Given the description of an element on the screen output the (x, y) to click on. 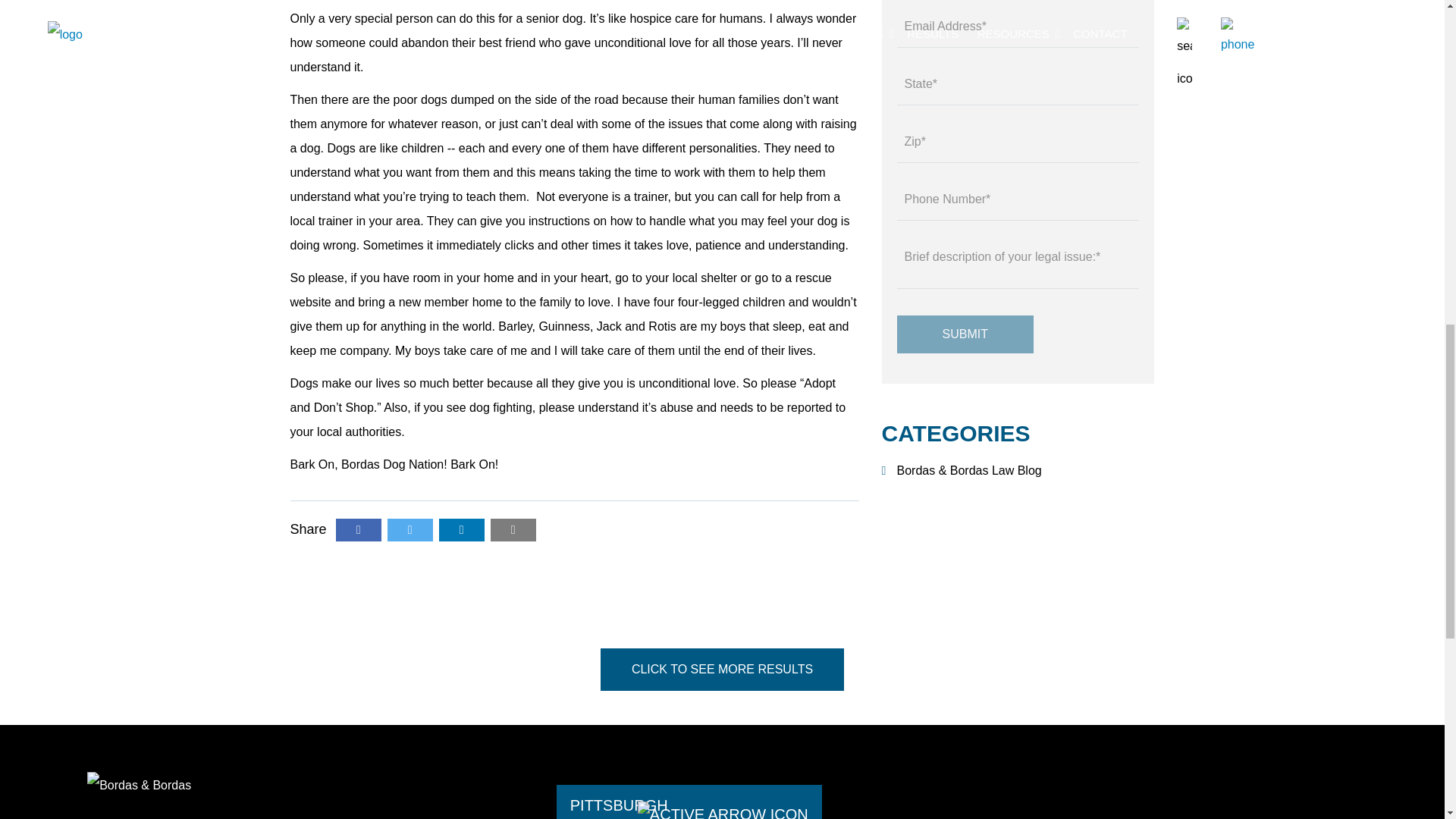
Submit (964, 333)
